Given the description of an element on the screen output the (x, y) to click on. 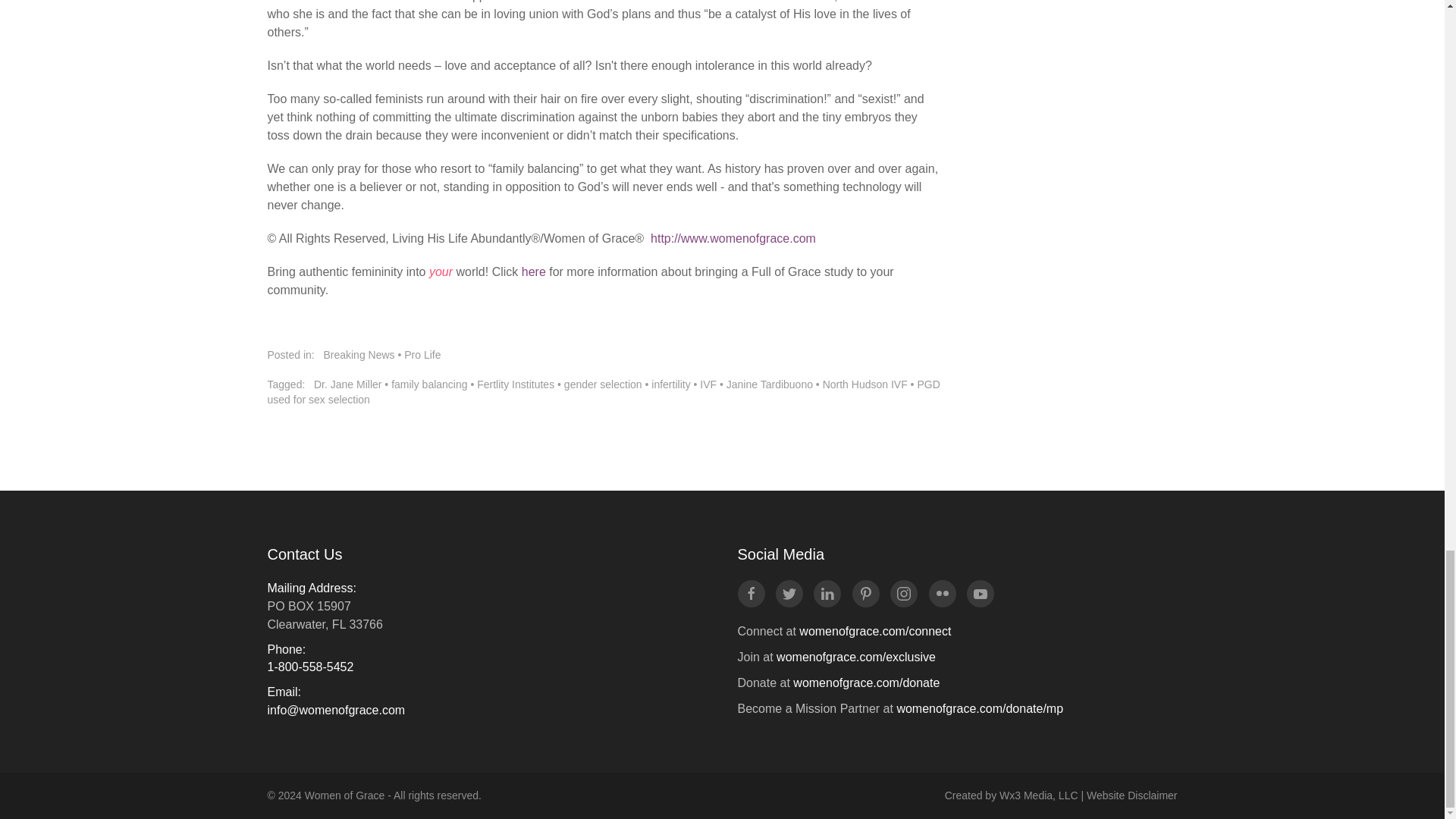
family balancing (429, 384)
Breaking News (358, 354)
Pro Life (422, 354)
here (533, 271)
Dr. Jane Miller (347, 384)
